Given the description of an element on the screen output the (x, y) to click on. 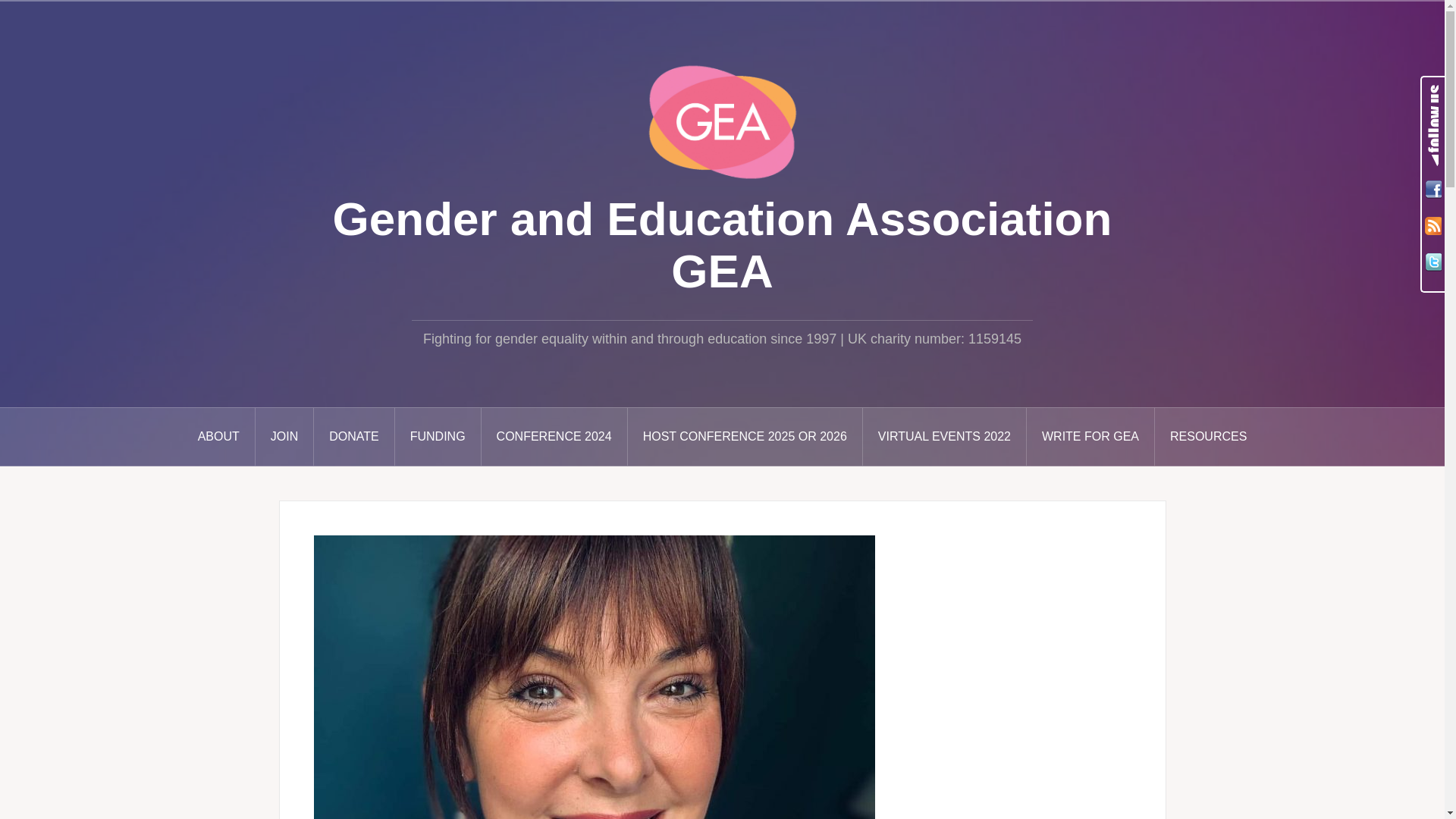
WRITE FOR GEA (1090, 436)
VIRTUAL EVENTS 2022 (944, 436)
ABOUT (219, 436)
Gender and Education Association GEA (721, 121)
DONATE (354, 436)
FUNDING (437, 436)
Gender and Education Association GEA (722, 244)
CONFERENCE 2024 (554, 436)
JOIN (285, 436)
